Given the description of an element on the screen output the (x, y) to click on. 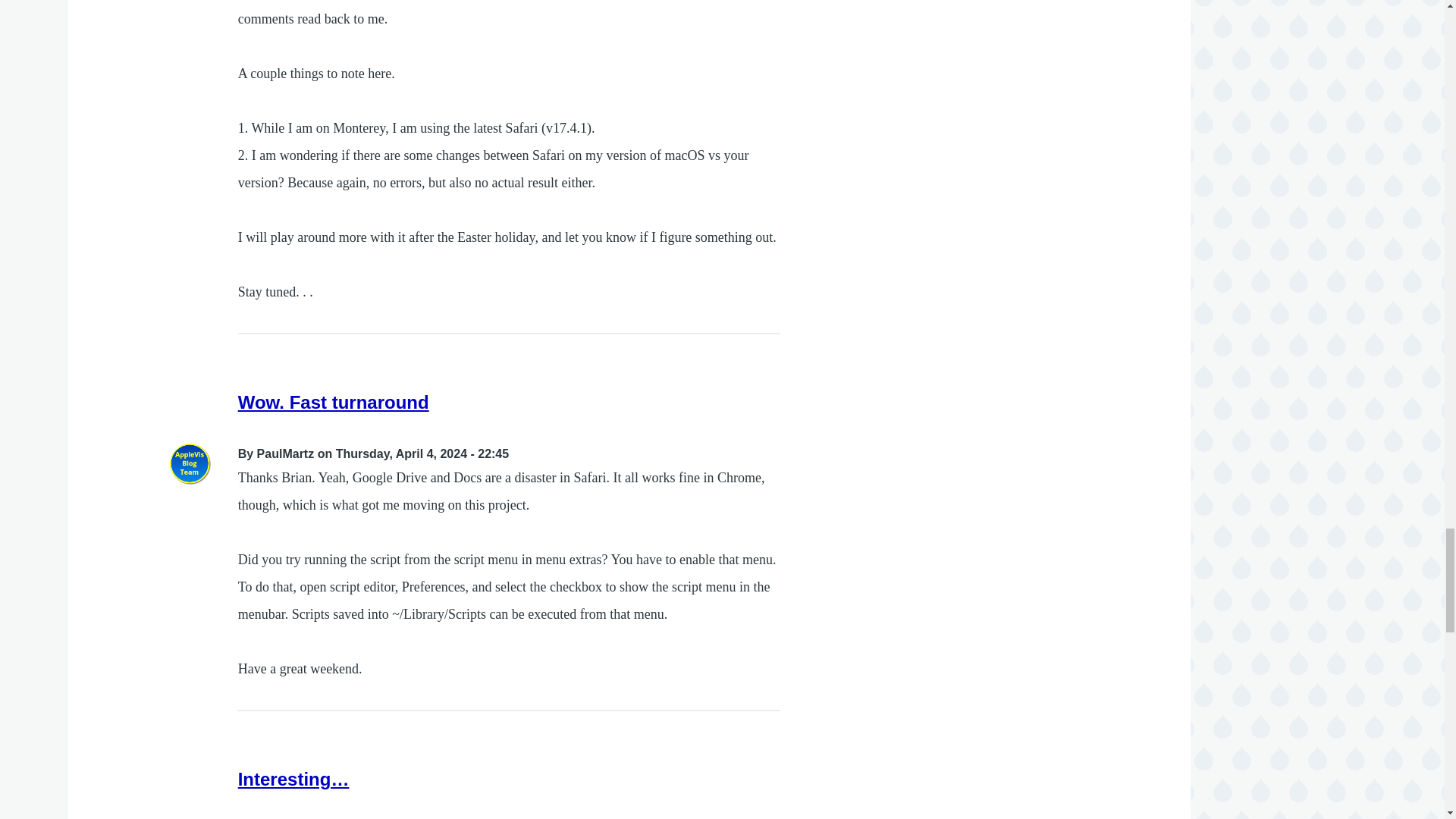
Wow. Fast turnaround (333, 402)
